Given the description of an element on the screen output the (x, y) to click on. 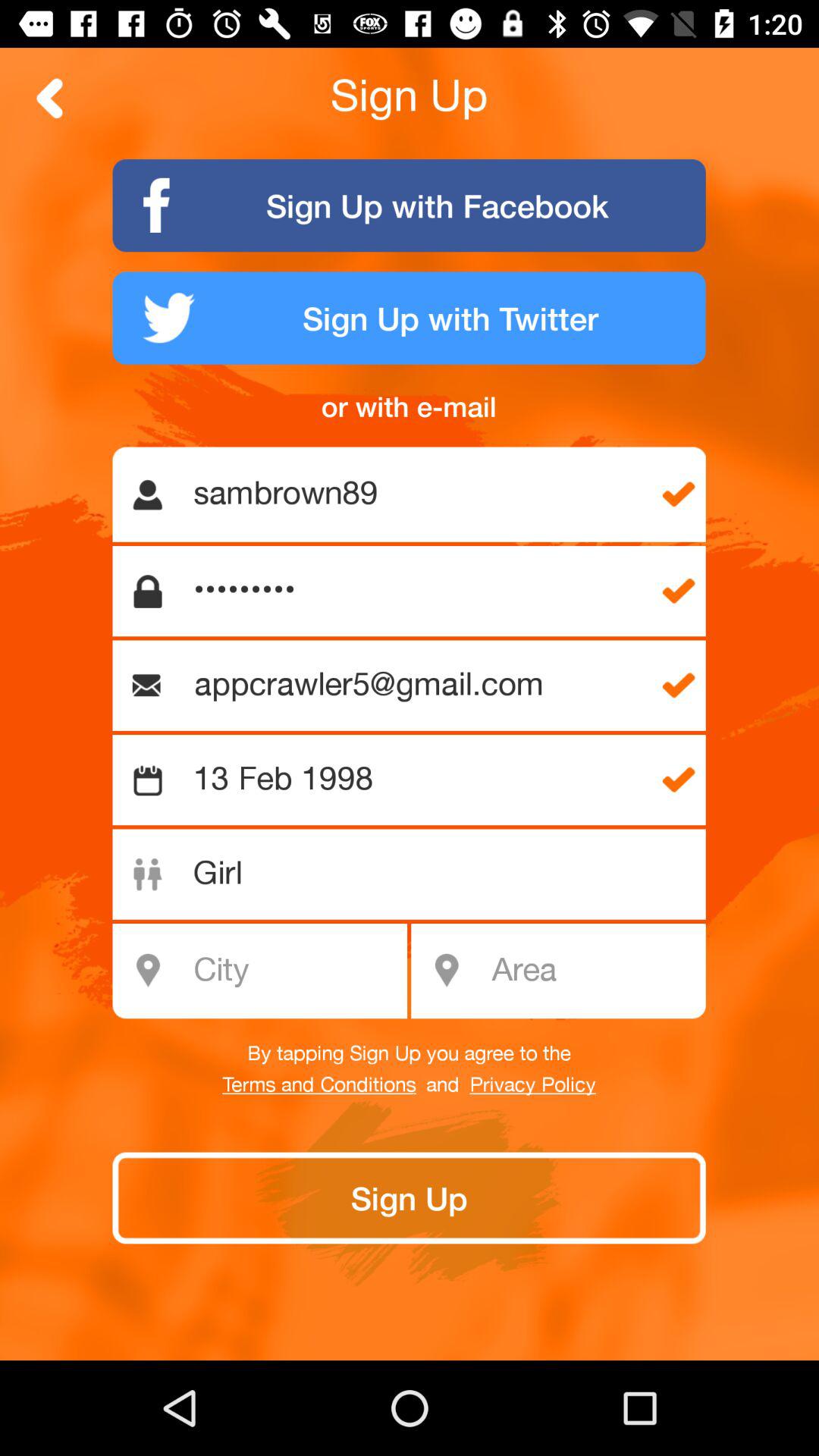
scroll to terms and conditions (319, 1085)
